Given the description of an element on the screen output the (x, y) to click on. 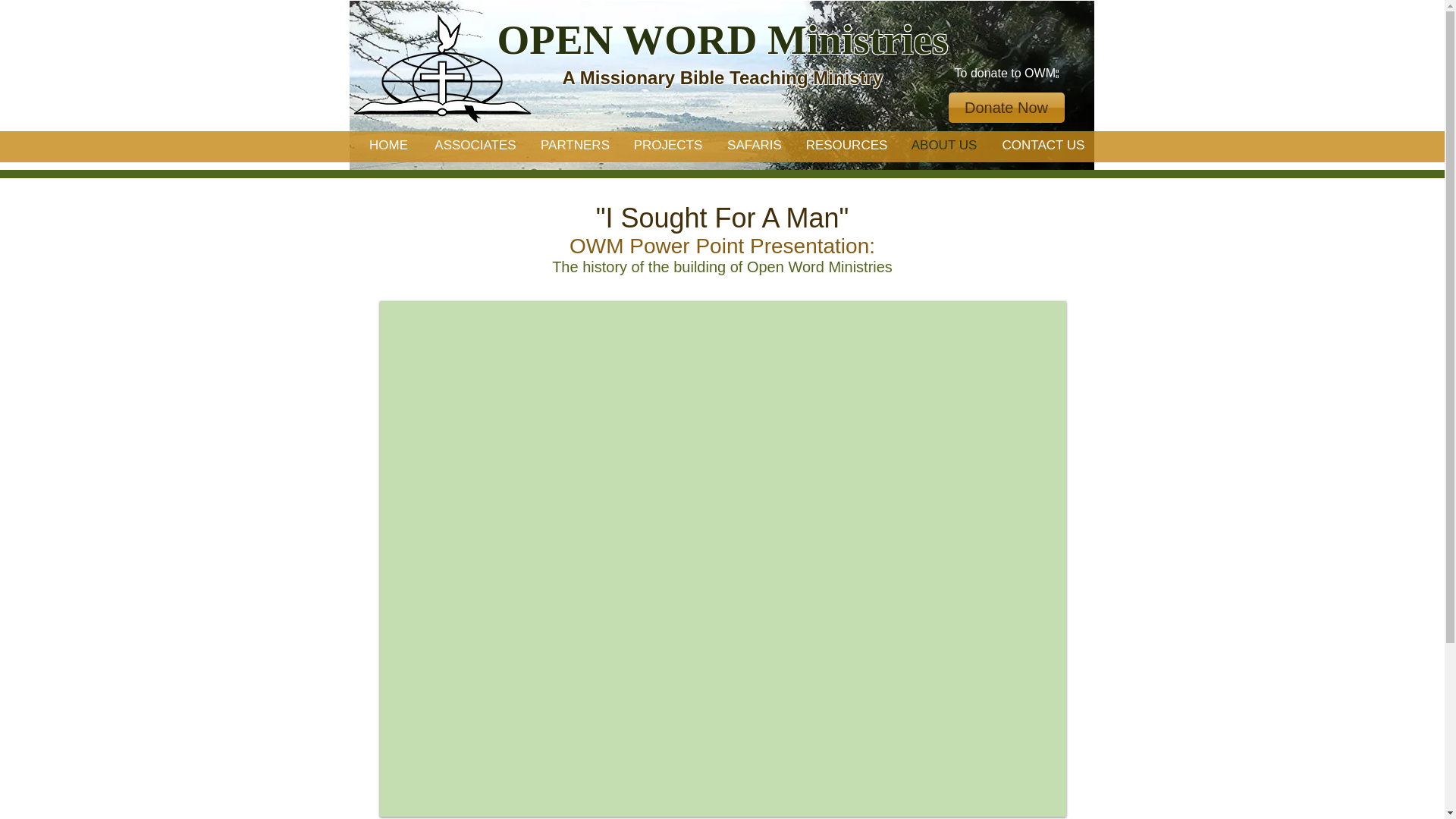
Donate Now (1005, 107)
PARTNERS (574, 145)
SAFARIS (754, 145)
RESOURCES (846, 145)
PROJECTS (667, 145)
ASSOCIATES (475, 145)
CONTACT US (1043, 145)
ABOUT US (944, 145)
HOME (389, 145)
